Given the description of an element on the screen output the (x, y) to click on. 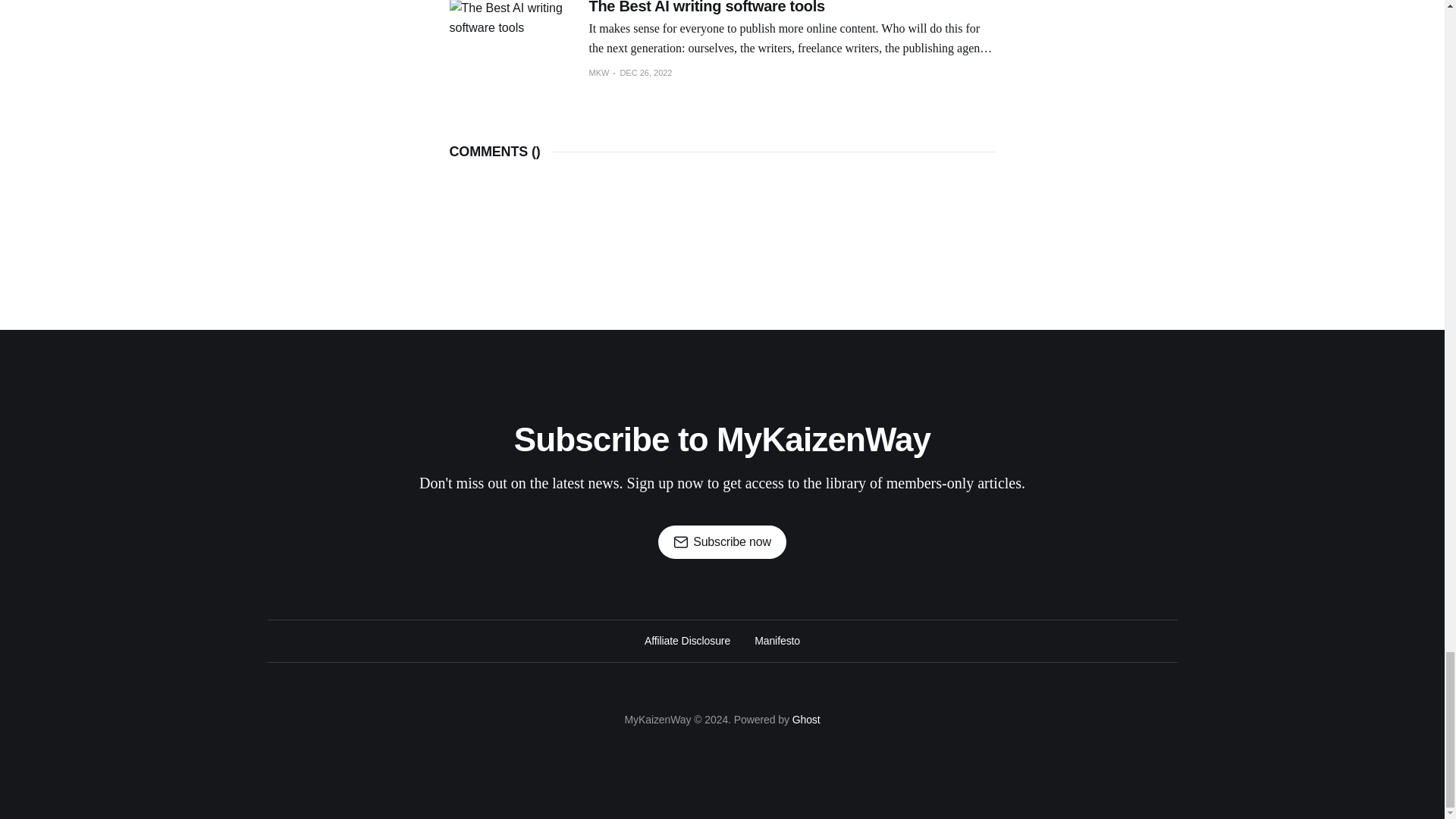
Affiliate Disclosure (687, 640)
Manifesto (776, 640)
Subscribe now (722, 541)
Ghost (806, 719)
